Given the description of an element on the screen output the (x, y) to click on. 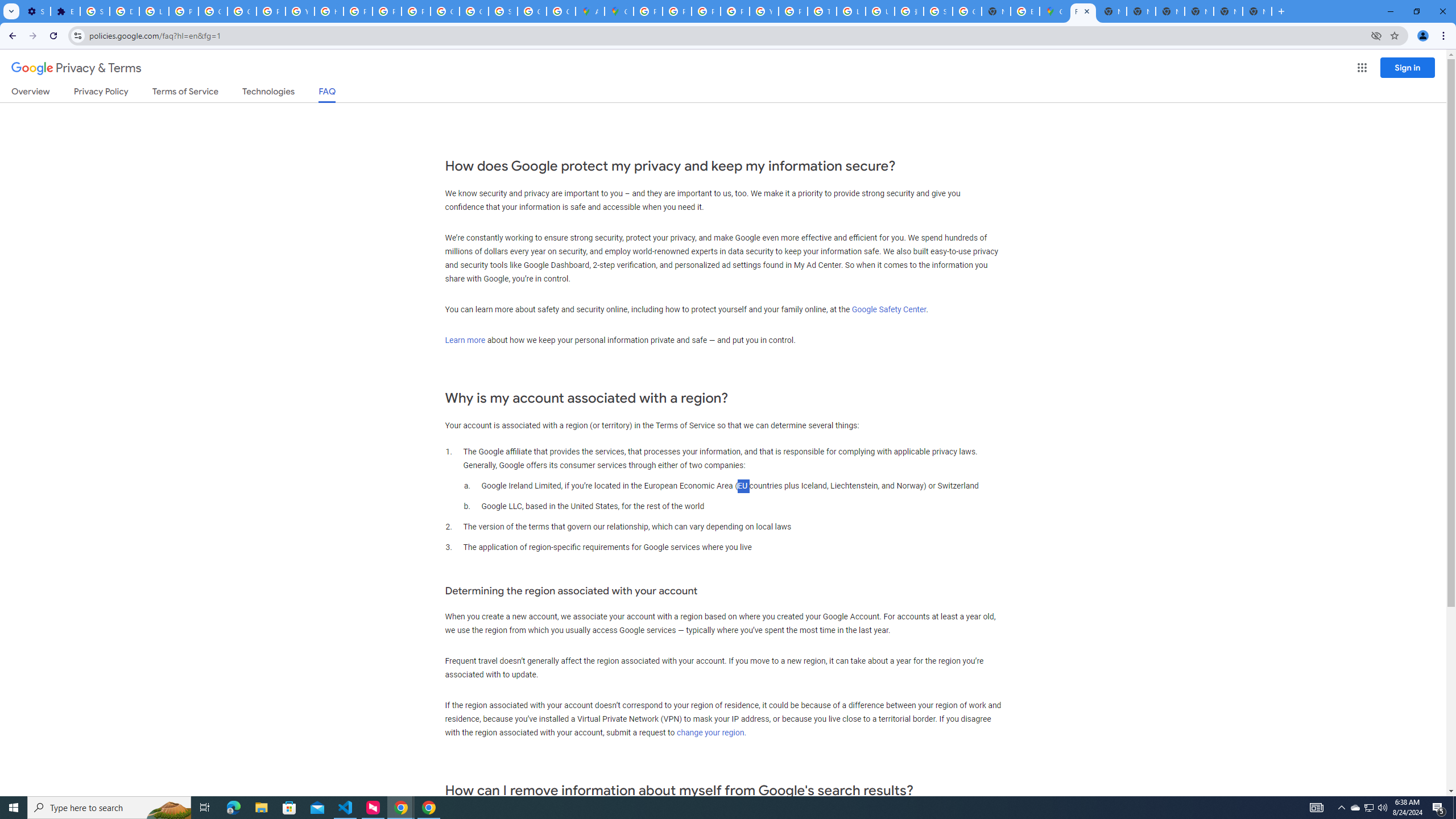
Sign in - Google Accounts (502, 11)
New Tab (1256, 11)
Privacy Help Center - Policies Help (705, 11)
Explore new street-level details - Google Maps Help (1025, 11)
YouTube (763, 11)
change your region. (710, 732)
